Given the description of an element on the screen output the (x, y) to click on. 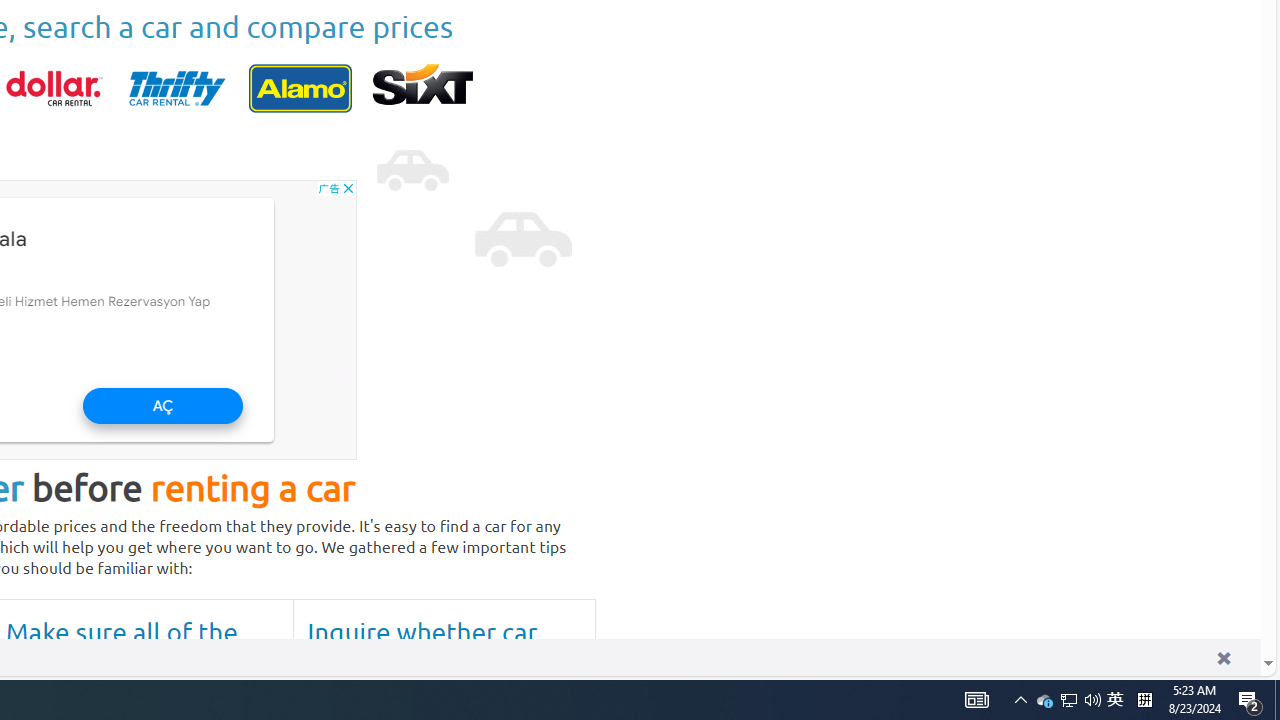
dismiss cookie message (1223, 657)
thrifty (177, 88)
dollar (54, 88)
AutomationID: cbb (347, 187)
sixt (422, 88)
alamo (300, 88)
